Given the description of an element on the screen output the (x, y) to click on. 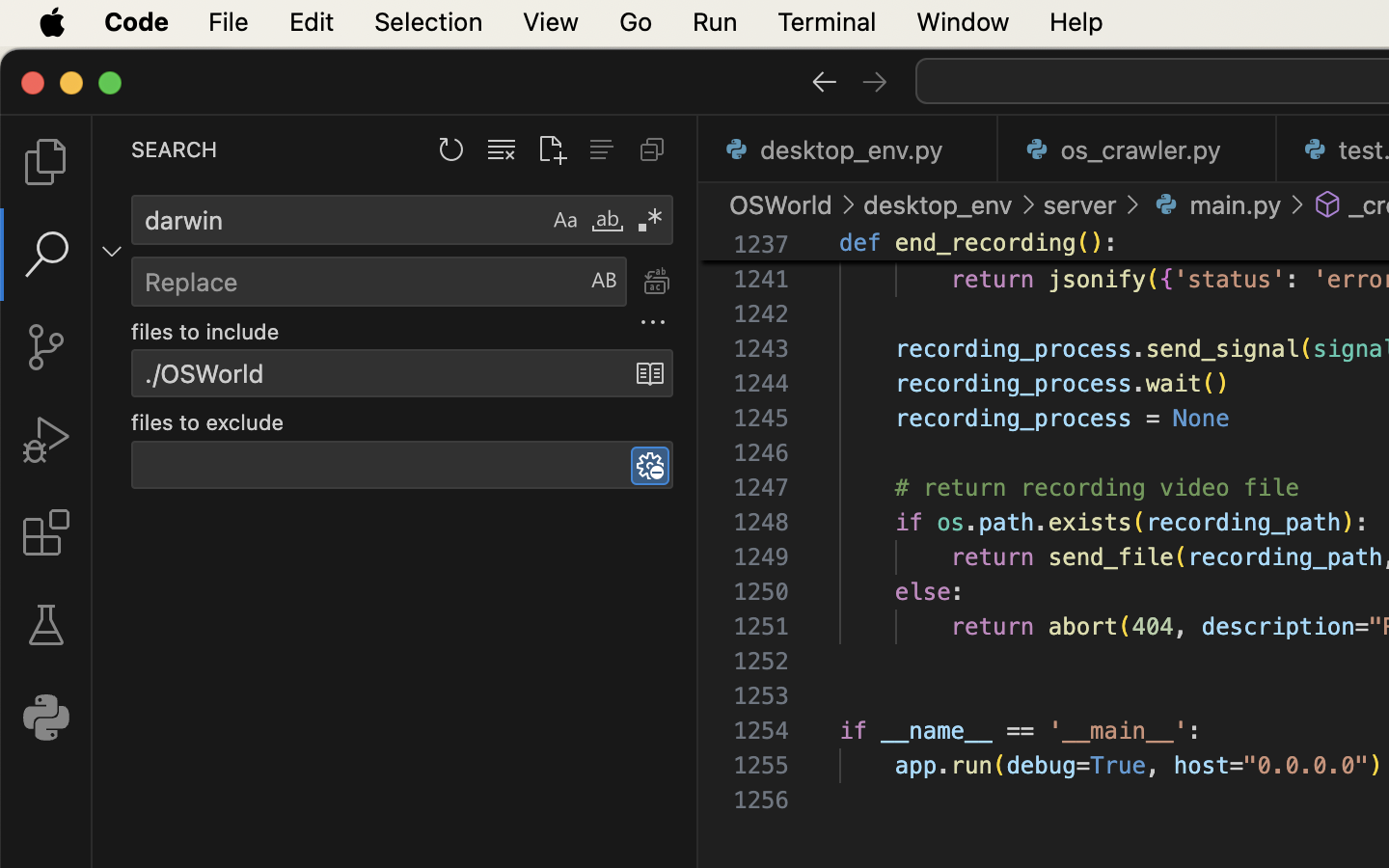
 Element type: AXGroup (46, 439)
0  Element type: AXRadioButton (46, 346)
 Element type: AXStaticText (1296, 204)
files to exclude Element type: AXStaticText (208, 422)
def Element type: AXStaticText (860, 242)
